Given the description of an element on the screen output the (x, y) to click on. 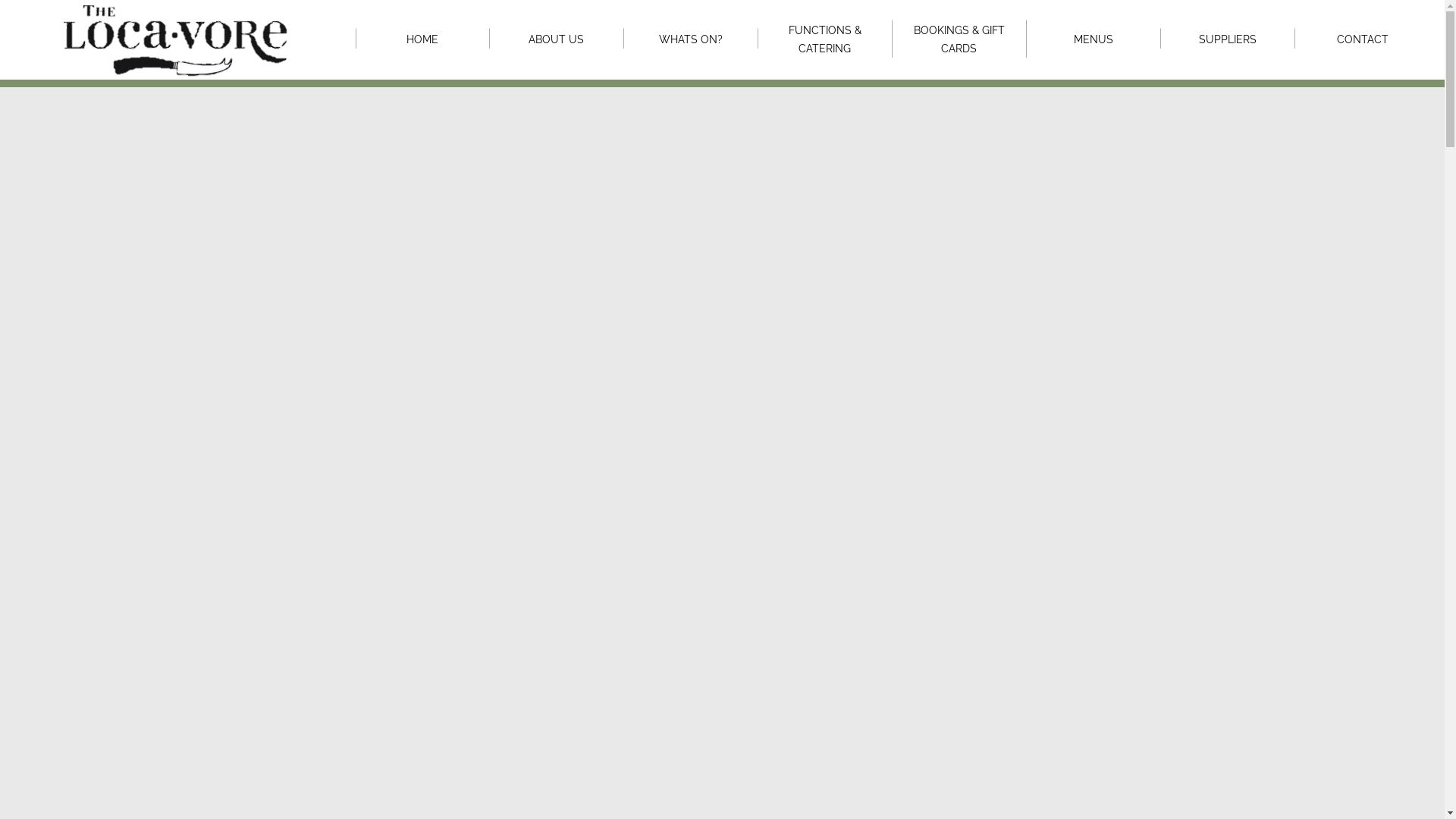
FUNCTIONS & CATERING Element type: text (824, 39)
SUPPLIERS Element type: text (1227, 39)
WHATS ON? Element type: text (690, 39)
MENUS Element type: text (1093, 39)
BOOKINGS & GIFT CARDS Element type: text (959, 39)
CONTACT Element type: text (1362, 39)
HOME Element type: text (422, 39)
ABOUT US Element type: text (556, 39)
